Given the description of an element on the screen output the (x, y) to click on. 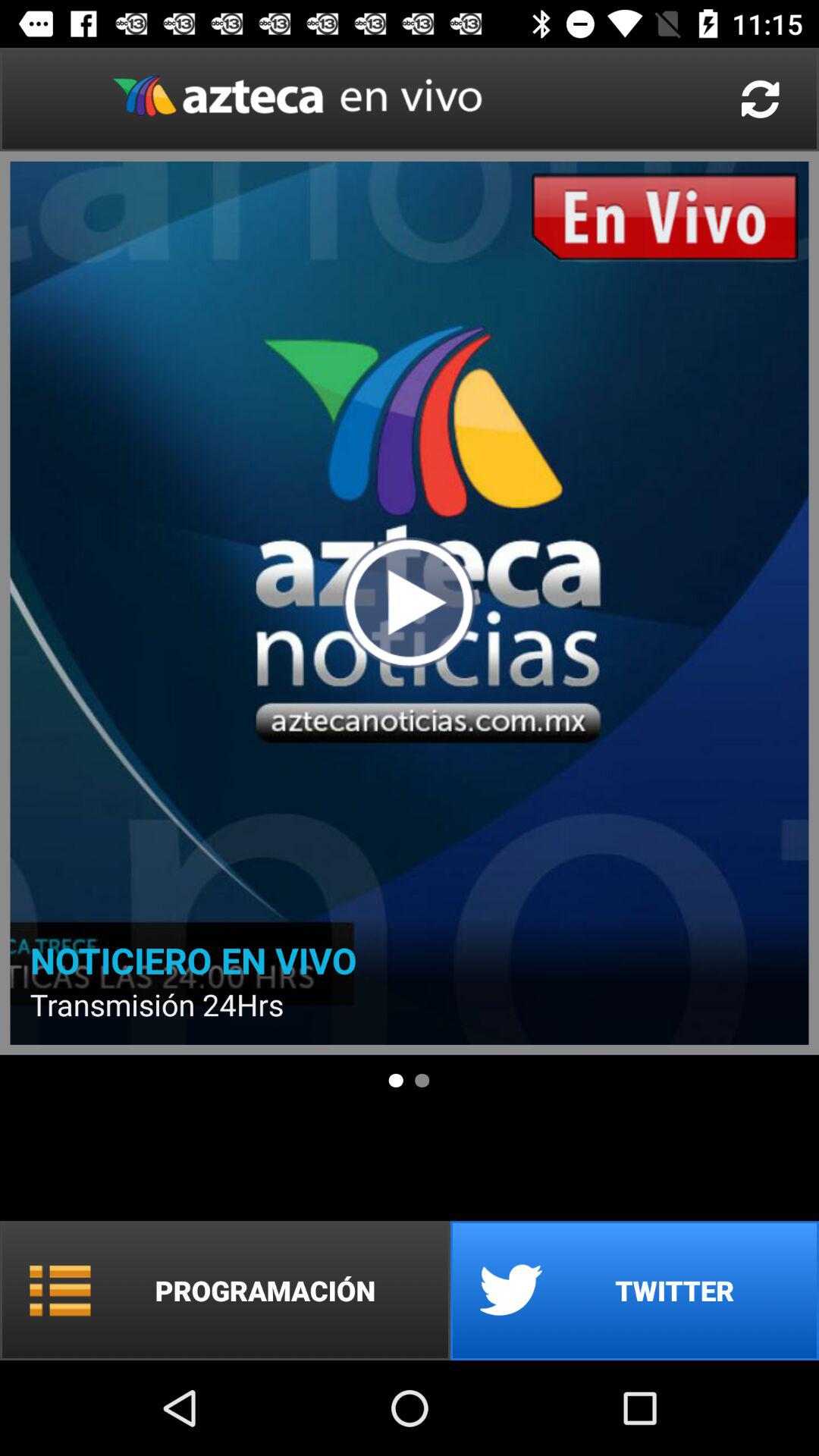
select the twitter button (634, 1290)
